Given the description of an element on the screen output the (x, y) to click on. 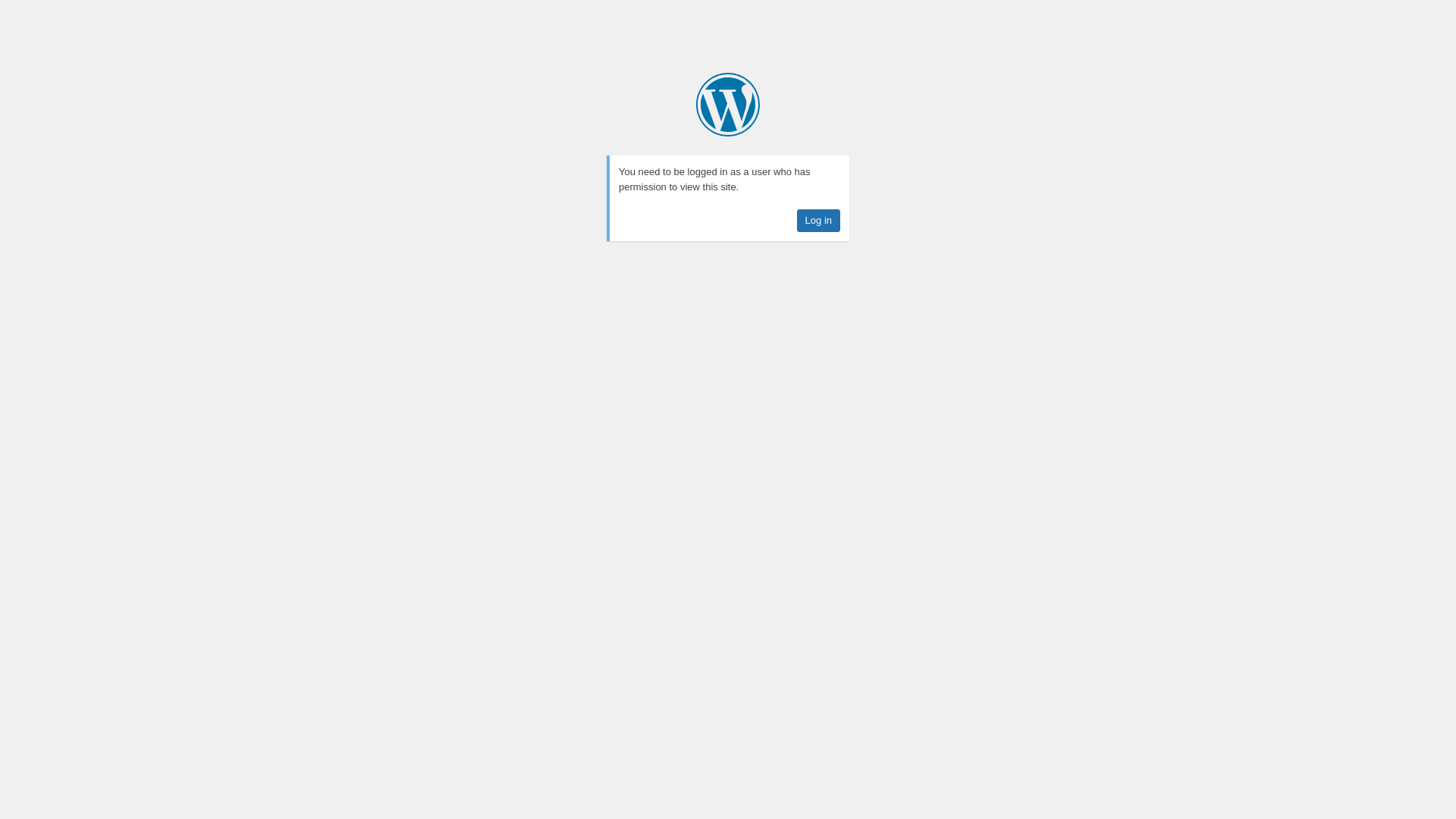
Private Site Element type: text (727, 104)
Log in Element type: text (818, 220)
